Given the description of an element on the screen output the (x, y) to click on. 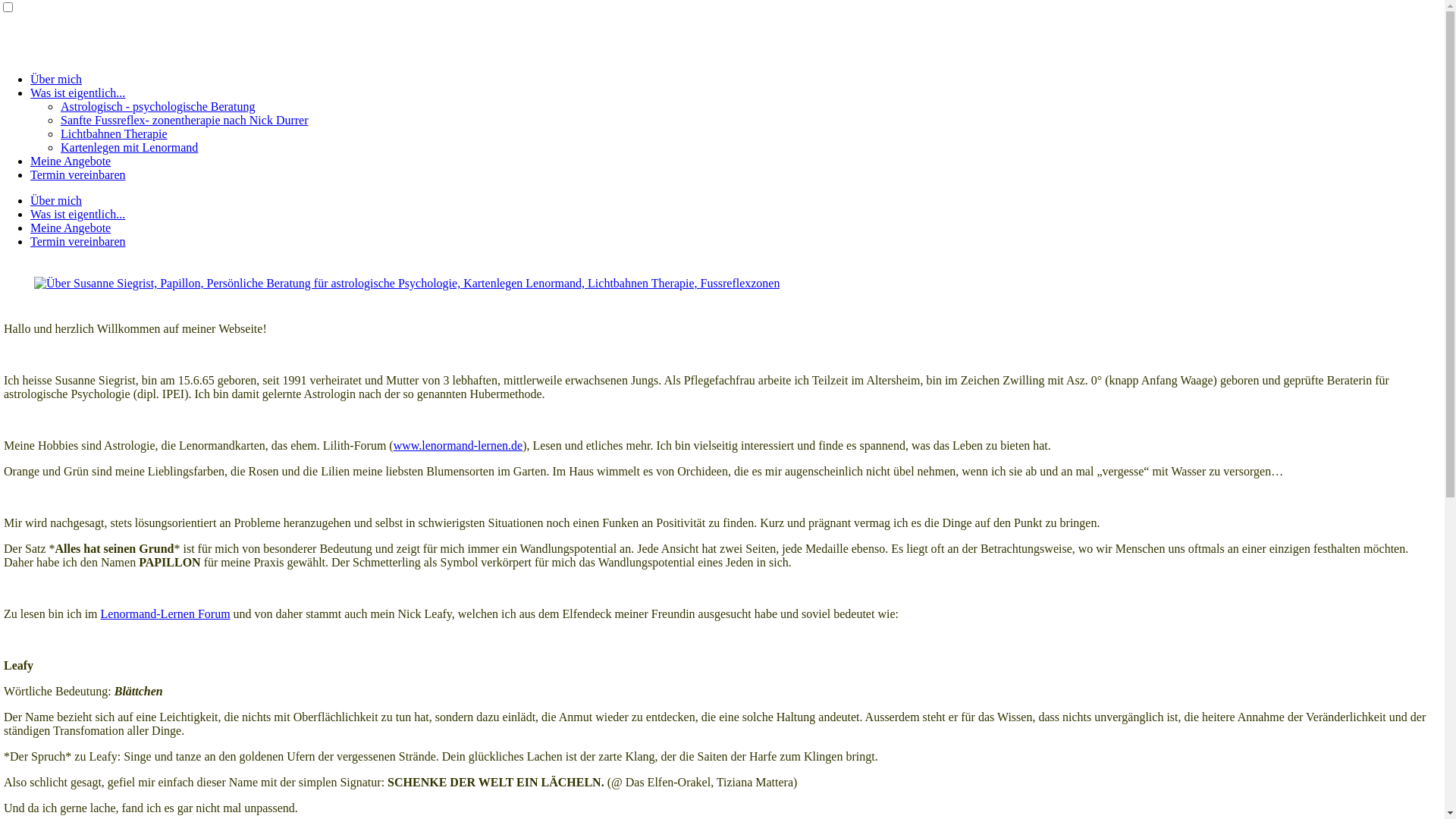
Termin vereinbaren Element type: text (77, 174)
Kartenlegen mit Lenormand Element type: text (128, 147)
Termin vereinbaren Element type: text (77, 241)
Astrologisch - psychologische Beratung Element type: text (157, 106)
Was ist eigentlich... Element type: text (77, 213)
Meine Angebote Element type: text (70, 227)
Sanfte Fussreflex- zonentherapie nach Nick Durrer Element type: text (184, 119)
Lenormand-Lernen Forum Element type: text (165, 613)
Meine Angebote Element type: text (70, 160)
www.lenormand-lernen.de Element type: text (457, 445)
Was ist eigentlich... Element type: text (77, 92)
Lichtbahnen Therapie Element type: text (113, 133)
